Given the description of an element on the screen output the (x, y) to click on. 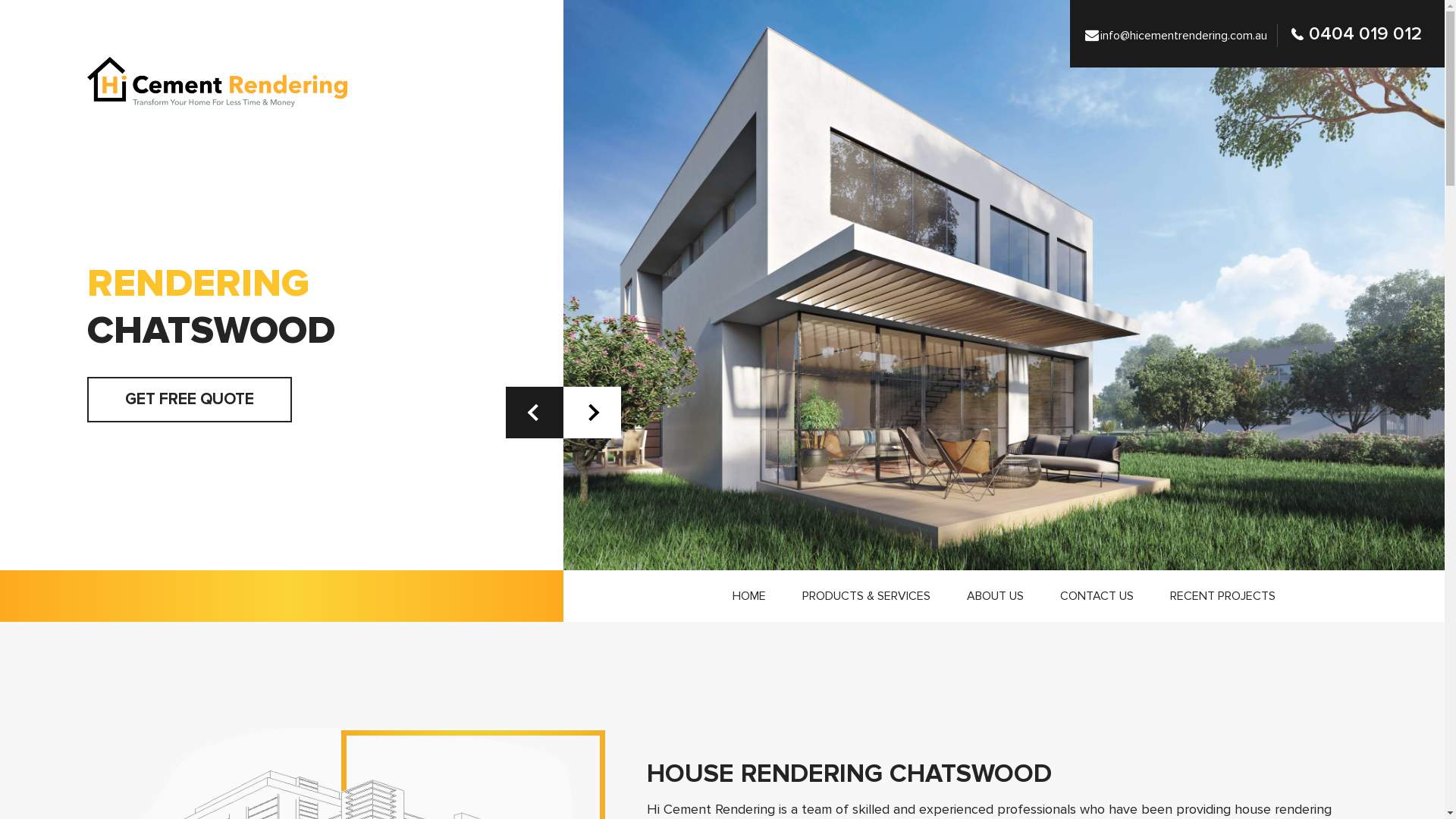
info@hicementrendering.com.au Element type: text (1181, 35)
GET FREE QUOTE Element type: text (189, 398)
HOME Element type: text (749, 595)
RECENT PROJECTS Element type: text (1222, 595)
CONTACT US Element type: text (1096, 595)
ABOUT US Element type: text (994, 595)
PRODUCTS & SERVICES Element type: text (866, 595)
Next Element type: text (592, 412)
0404 019 012 Element type: text (1356, 33)
Previous Element type: text (534, 412)
